Given the description of an element on the screen output the (x, y) to click on. 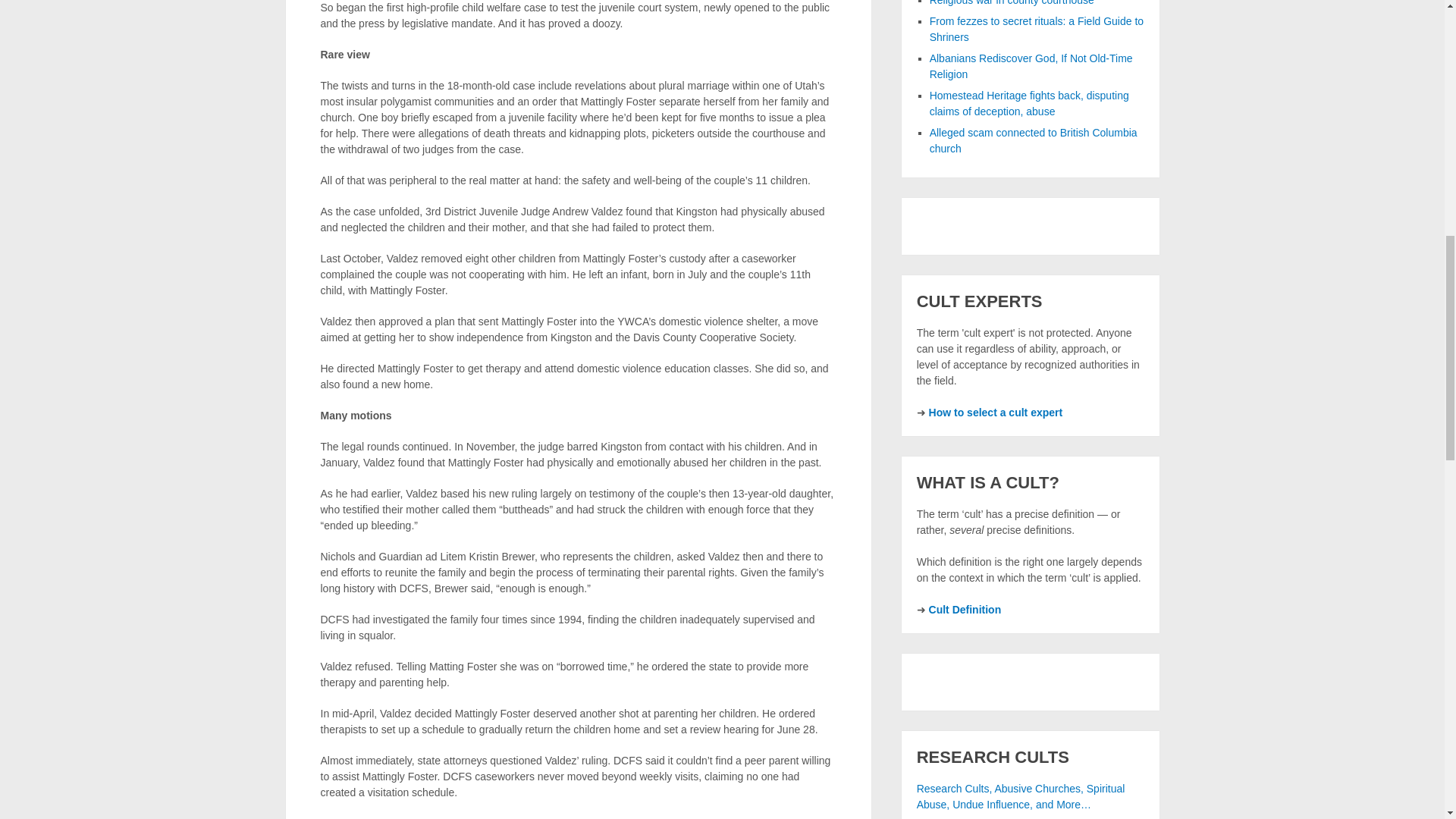
Alleged scam connected to British Columbia church (1033, 140)
Cult Definition (964, 609)
Albanians Rediscover God, If Not Old-Time Religion (1031, 66)
Religious war in county courthouse (1012, 2)
How to select a cult expert (995, 412)
From fezzes to secret rituals: a Field Guide to Shriners (1036, 29)
